Given the description of an element on the screen output the (x, y) to click on. 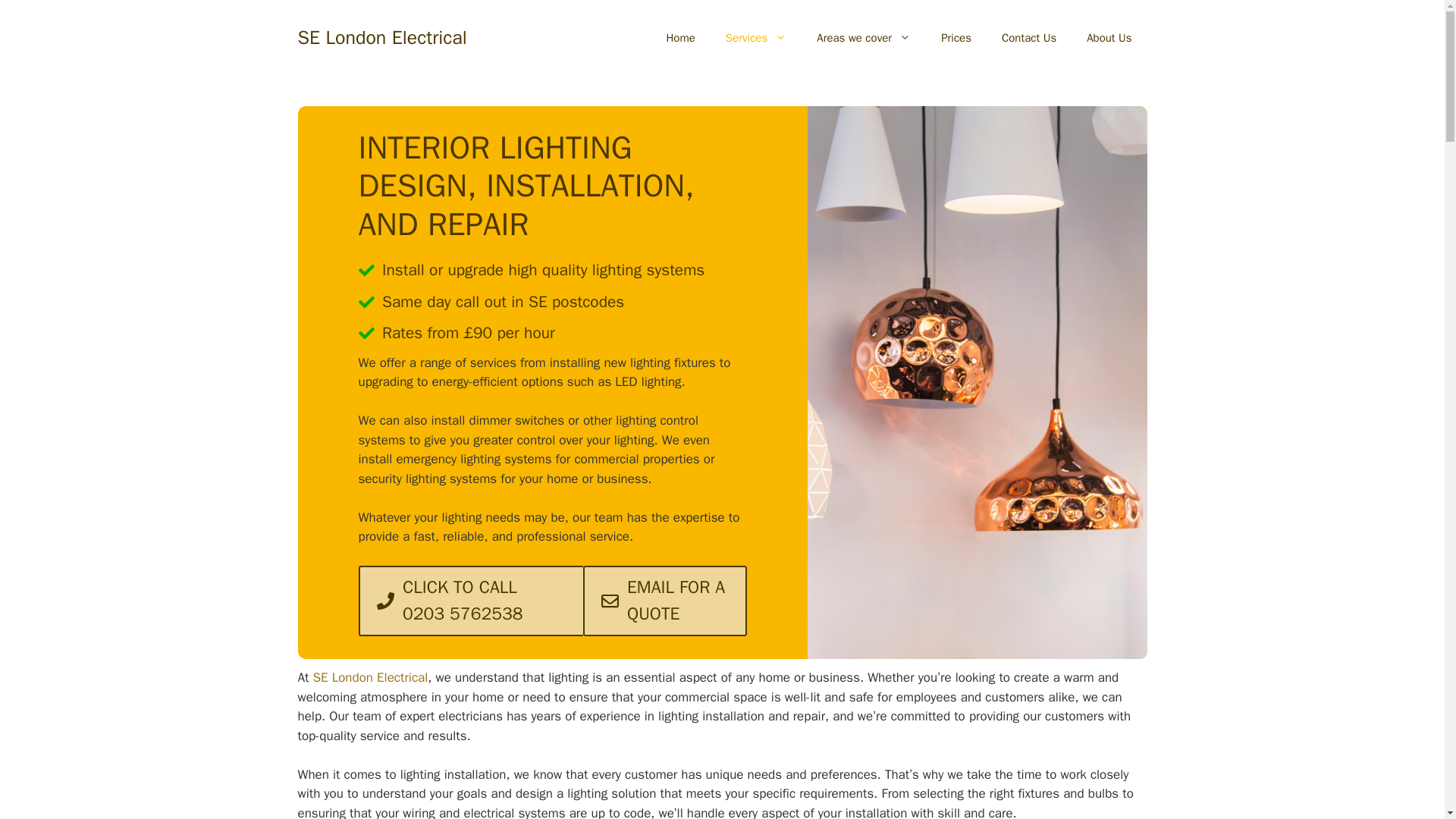
Home (680, 37)
Areas we cover (864, 37)
Home (370, 677)
Services (756, 37)
SE London Electrical (381, 37)
